Given the description of an element on the screen output the (x, y) to click on. 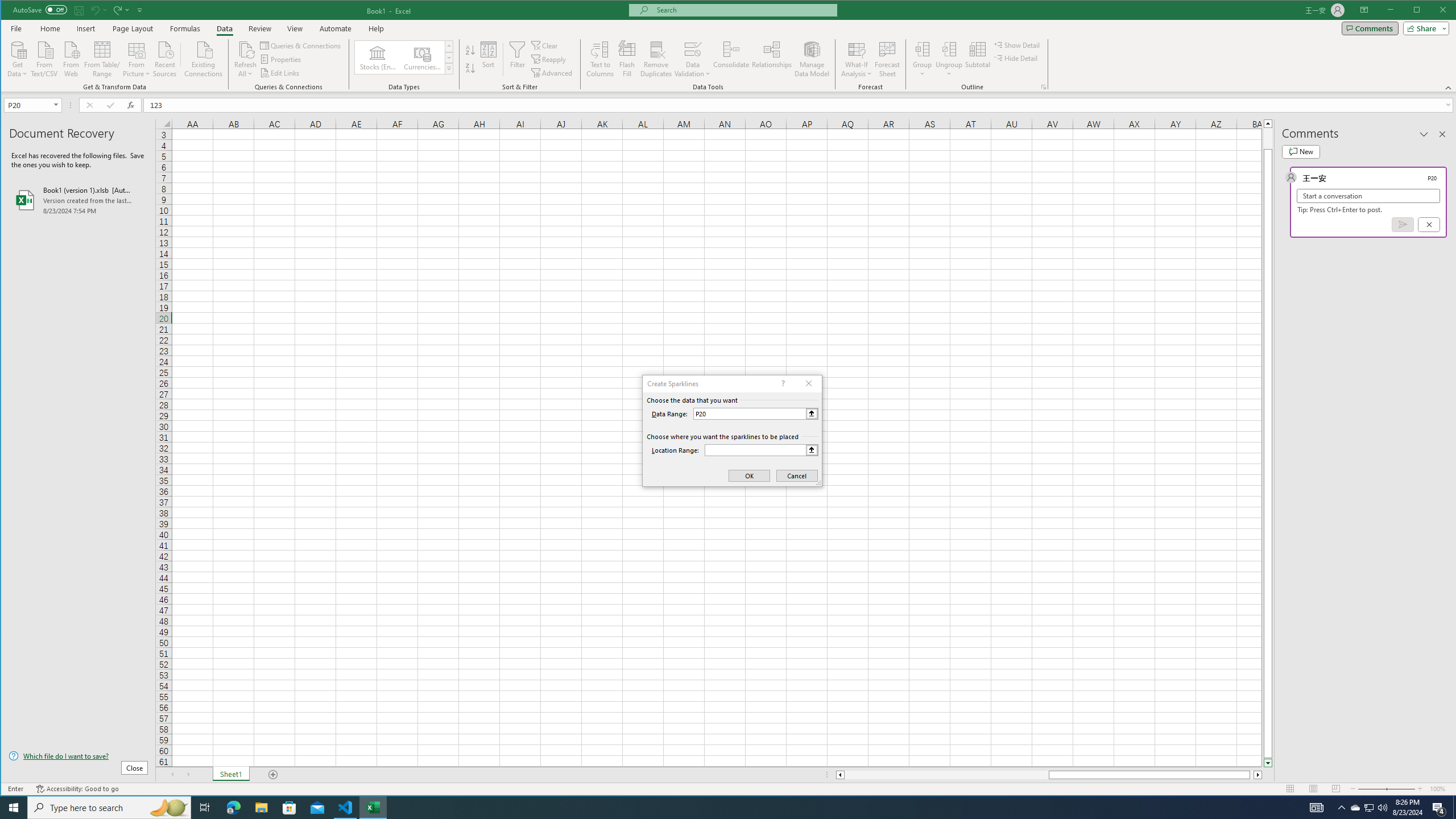
Flash Fill (627, 59)
Stocks (English) (377, 57)
